Given the description of an element on the screen output the (x, y) to click on. 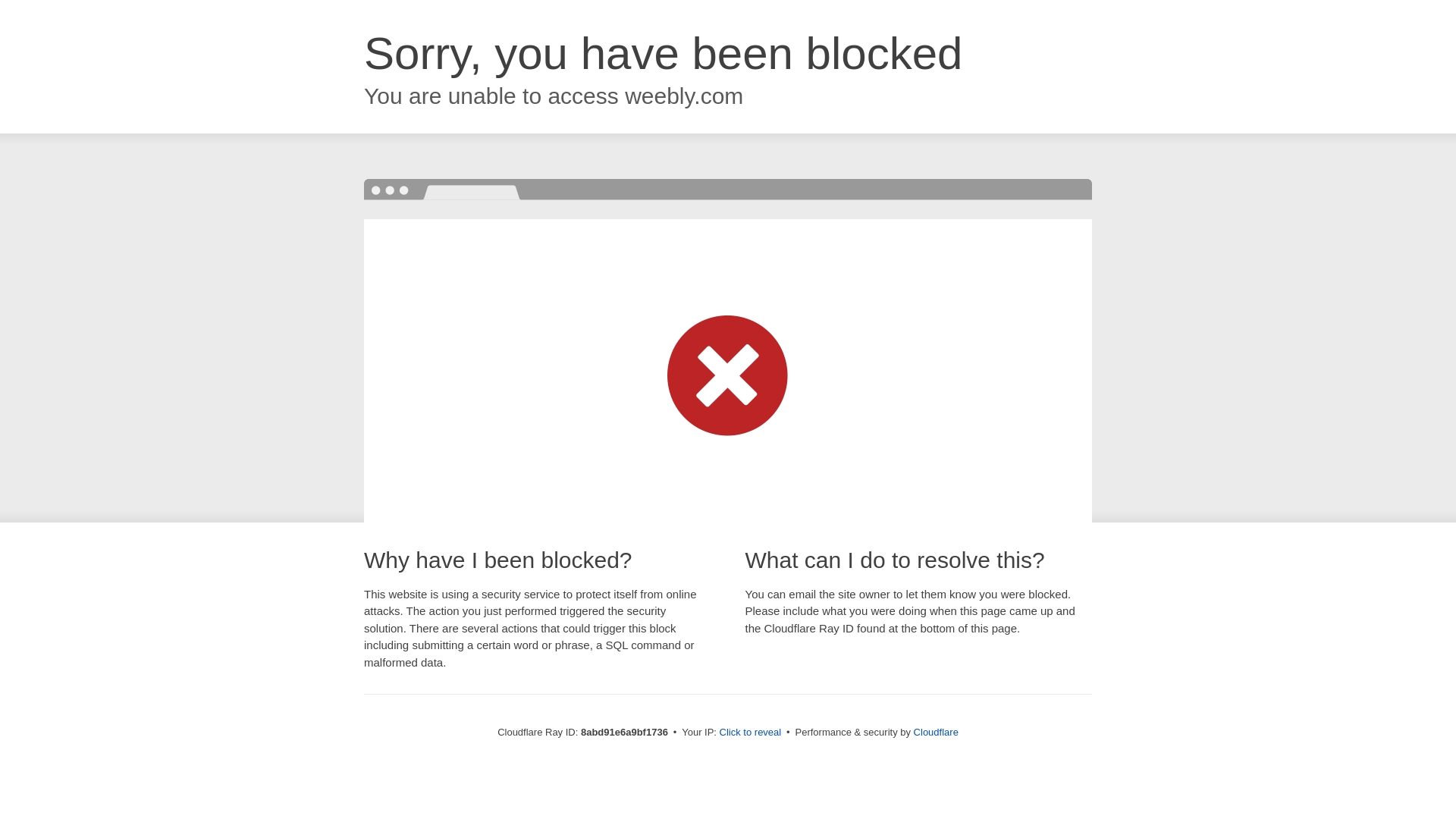
Click to reveal (750, 732)
Cloudflare (936, 731)
